Given the description of an element on the screen output the (x, y) to click on. 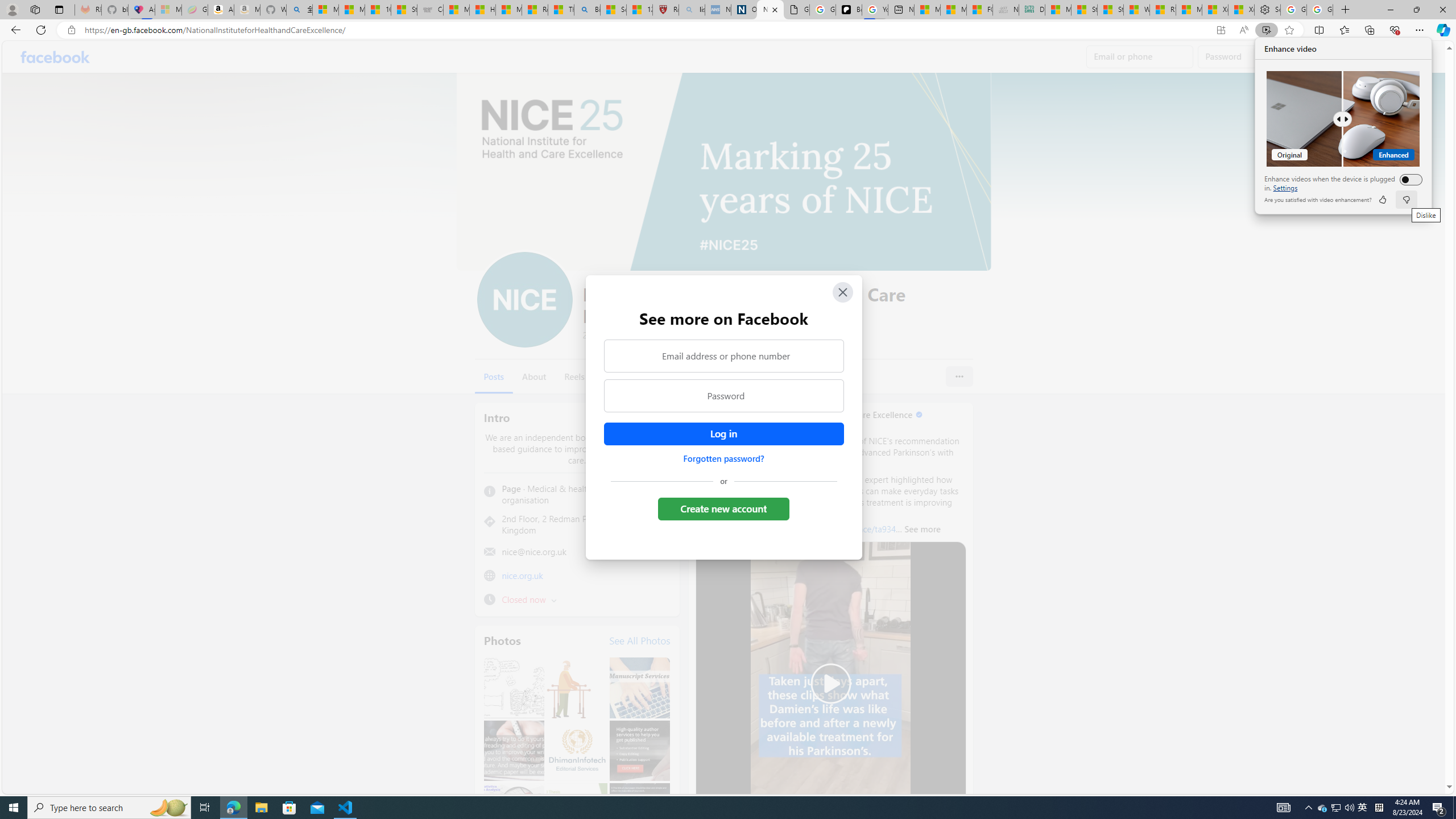
FOX News - MSN (979, 9)
Comparision (1342, 118)
